Given the description of an element on the screen output the (x, y) to click on. 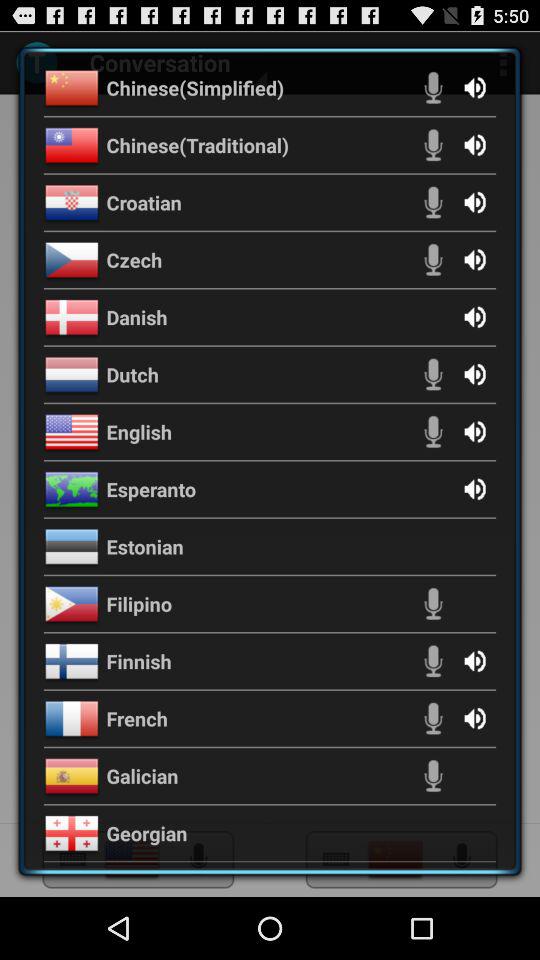
tap the icon above esperanto icon (139, 431)
